Given the description of an element on the screen output the (x, y) to click on. 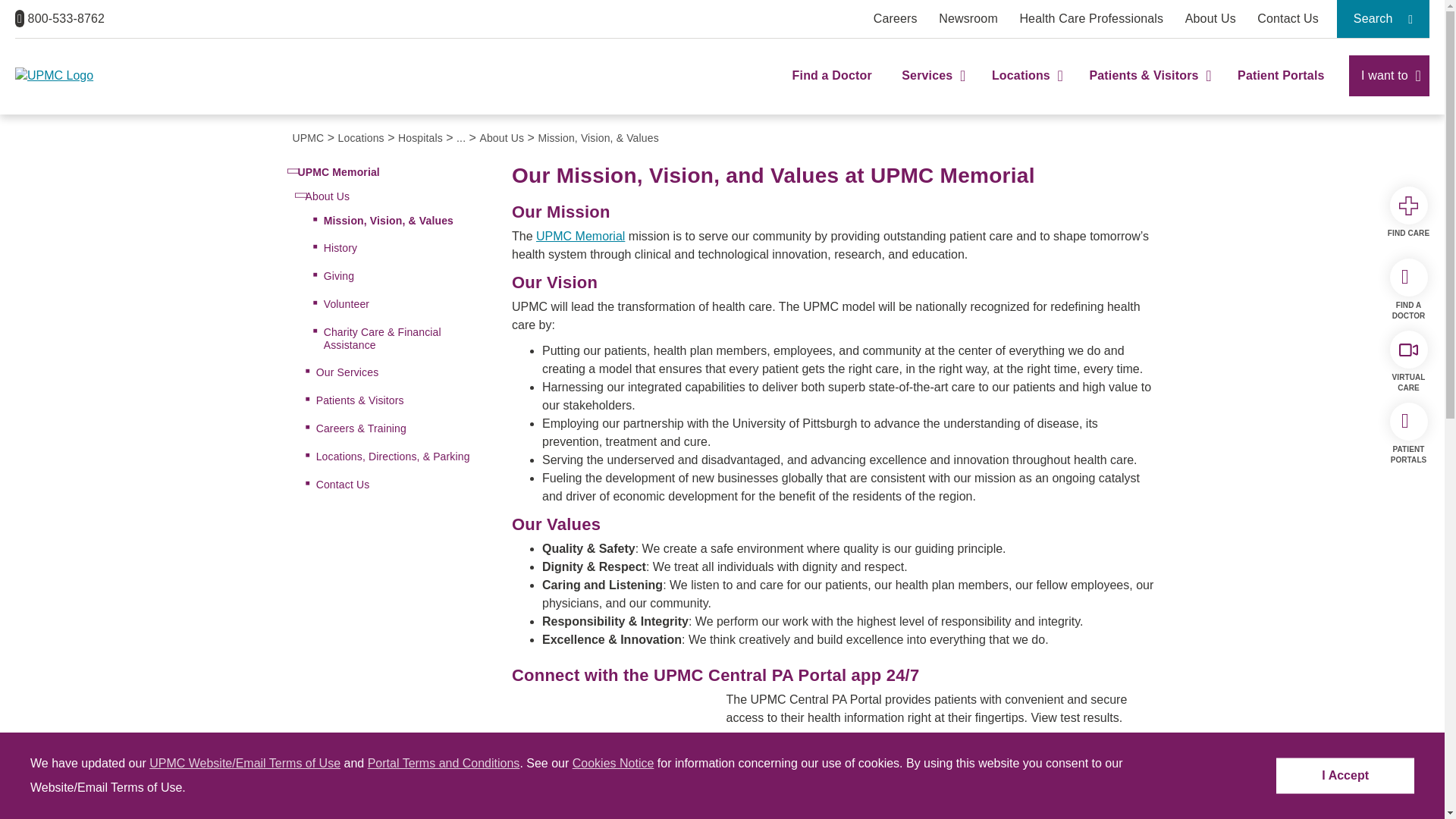
Find a Doctor (832, 89)
Search (1382, 18)
Contact Us (1288, 18)
800-533-8762 (59, 18)
About Us (1210, 18)
Careers (895, 18)
Newsroom (968, 18)
Cookies Notice (612, 762)
Contact UPMC (1288, 18)
UPMC (81, 76)
Health Care Professionals (1091, 18)
Learn more about careers and job openings at UPMC. (895, 18)
Portal Terms and Conditions (443, 762)
Services (930, 89)
I Accept (1344, 775)
